Given the description of an element on the screen output the (x, y) to click on. 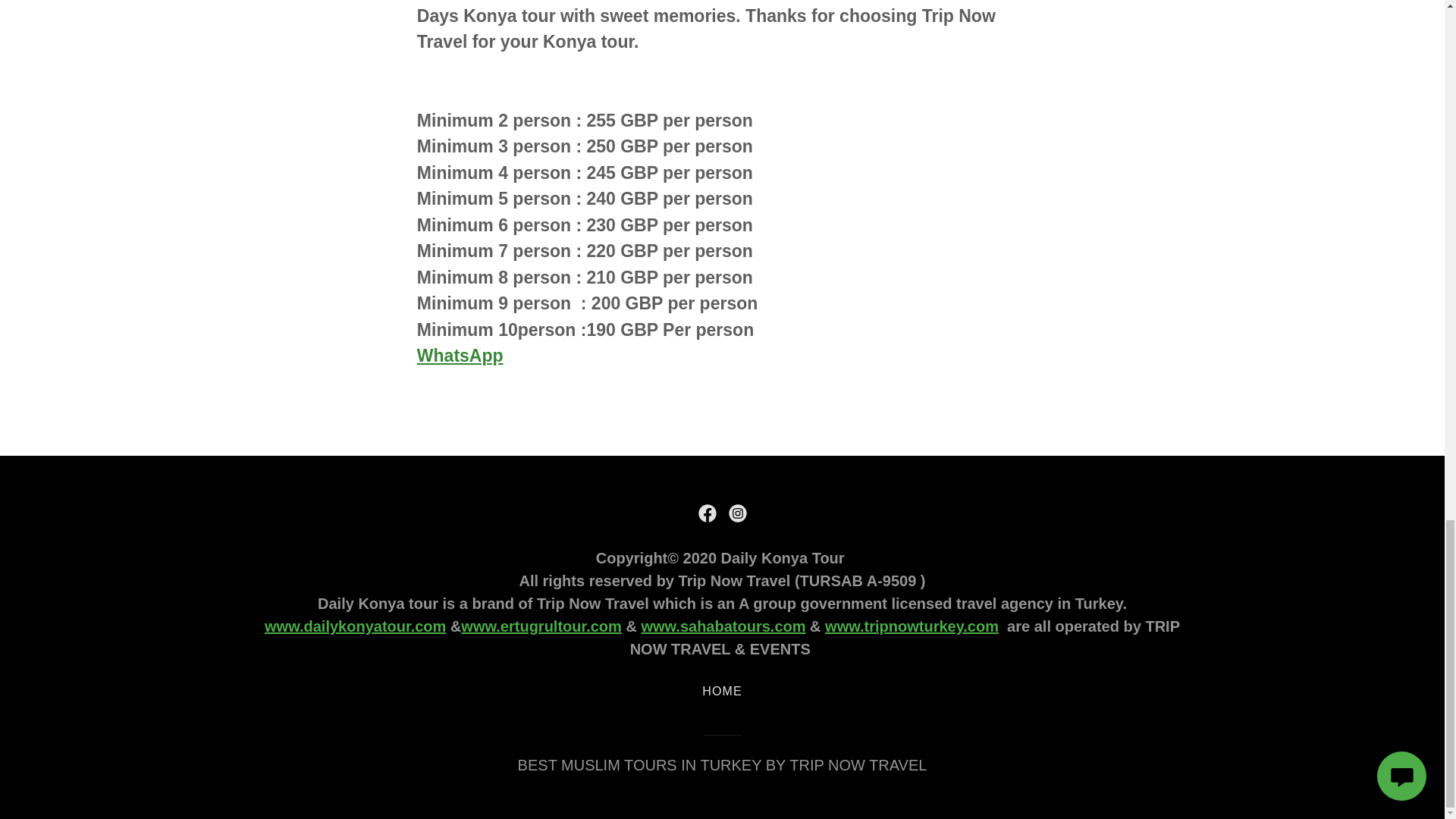
www.sahabatours.com (722, 626)
www.tripnowturkey.com (911, 626)
HOME (721, 691)
WhatsApp (459, 355)
www.dailykonyatour.com (354, 626)
www.ertugrultour.com (541, 626)
